Given the description of an element on the screen output the (x, y) to click on. 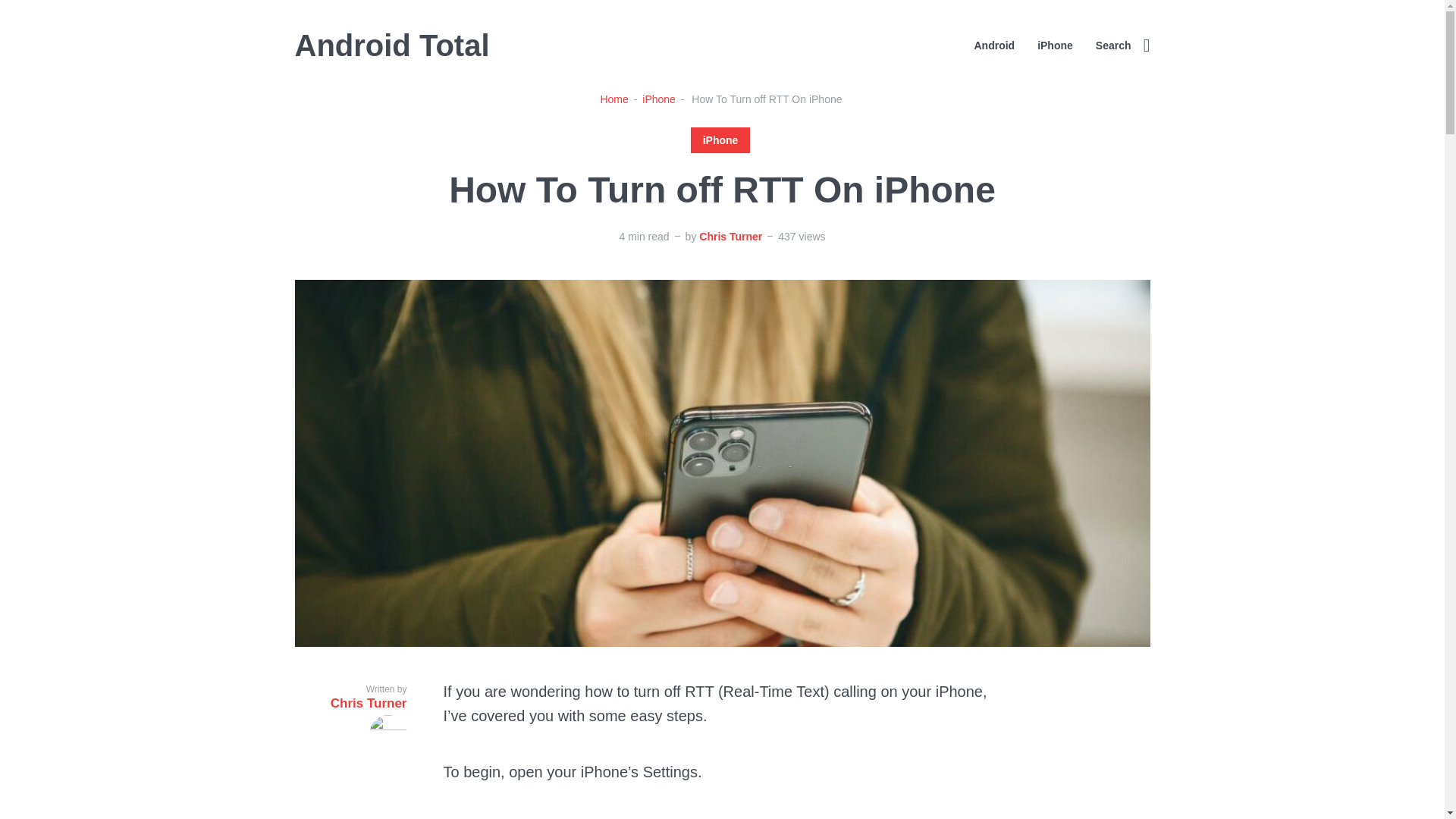
Android (994, 45)
iPhone (658, 99)
iPhone (720, 140)
Android Total (391, 45)
Chris Turner (350, 724)
iPhone (1054, 45)
Chris Turner (729, 236)
Home (613, 99)
Search (1123, 45)
